Given the description of an element on the screen output the (x, y) to click on. 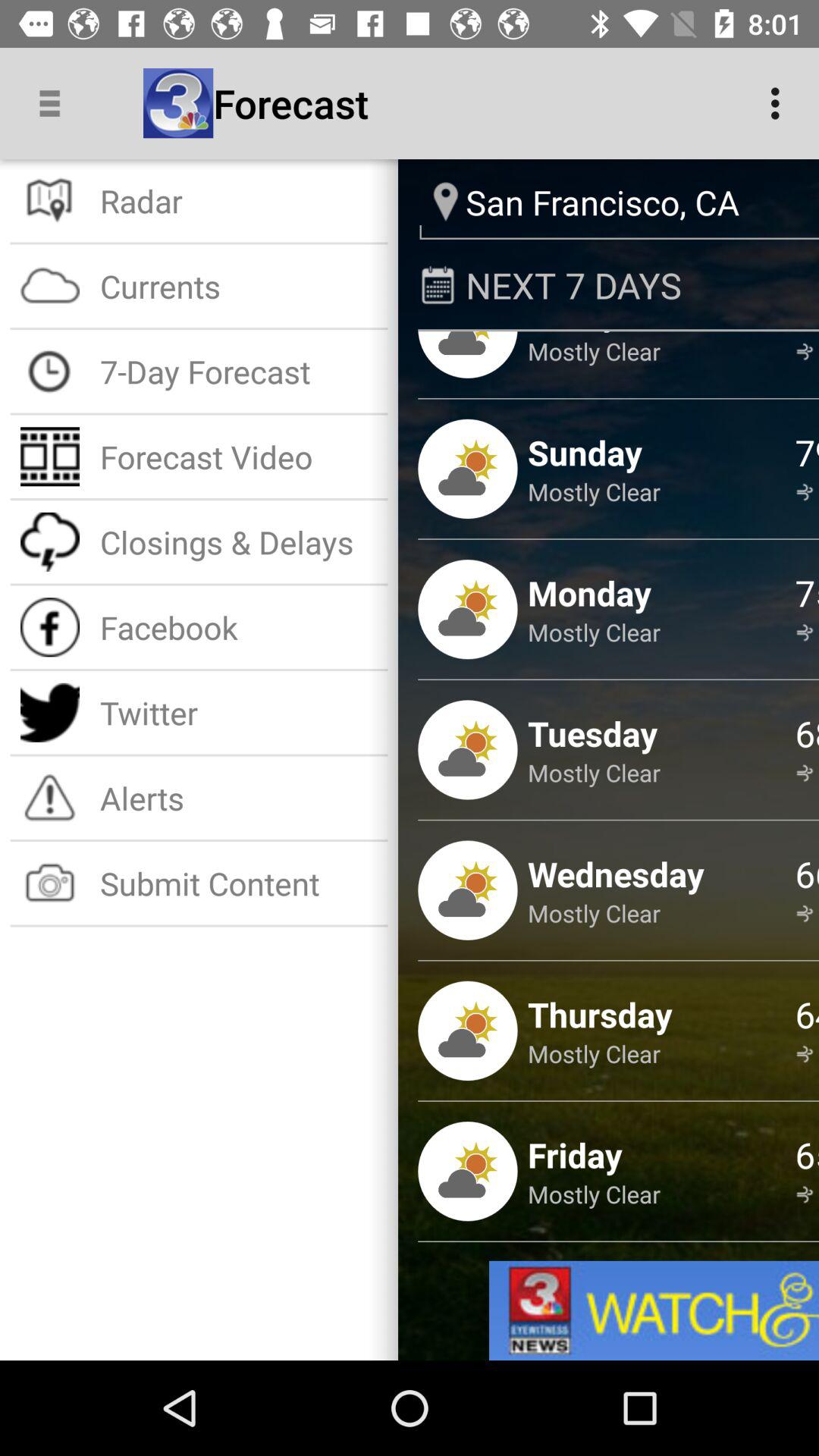
select icon above submit content item (238, 797)
